Given the description of an element on the screen output the (x, y) to click on. 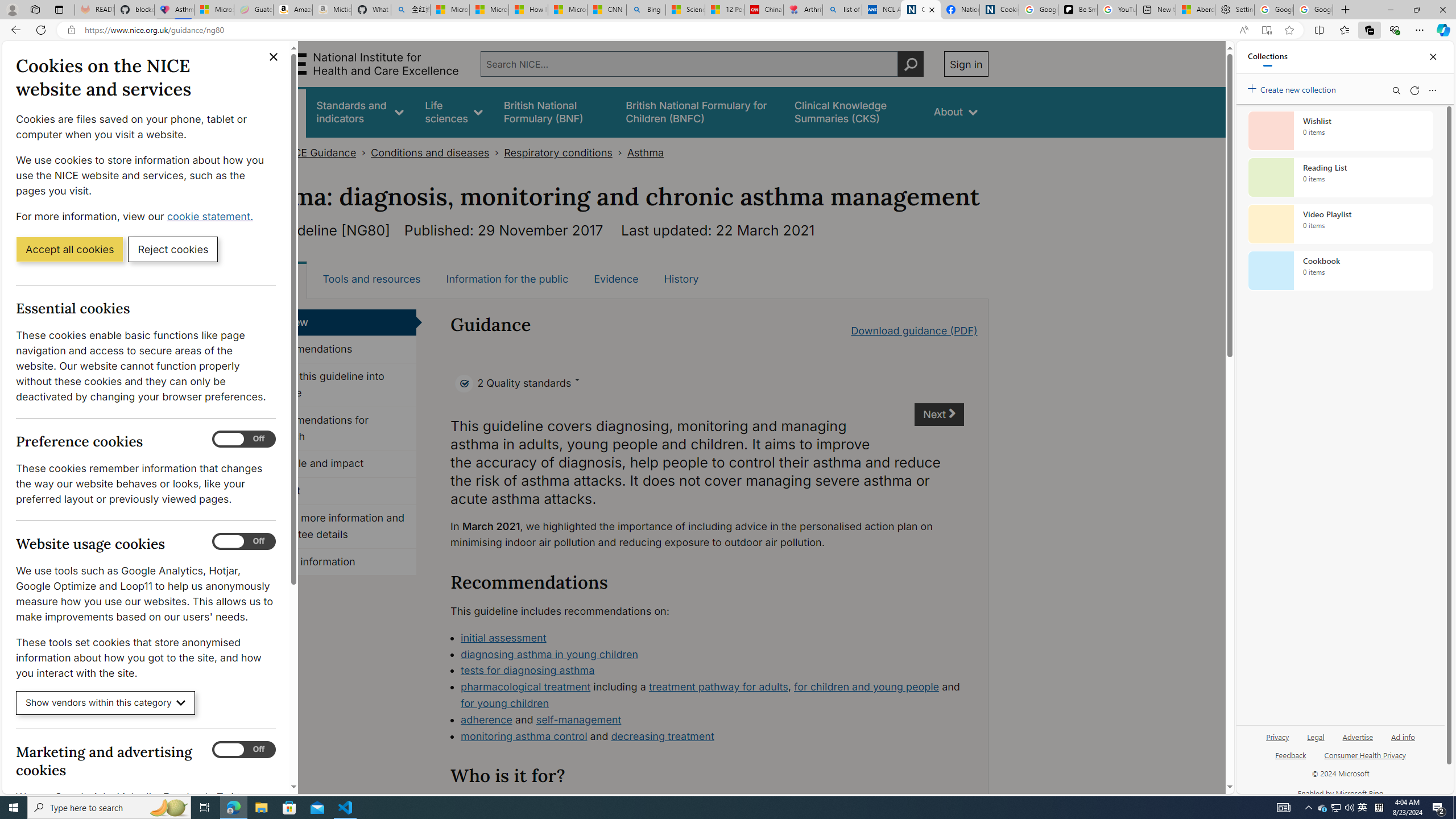
Context (333, 491)
adherence (486, 719)
NICE Guidance (319, 152)
Update information (333, 561)
Overview (333, 321)
Recommendations (333, 349)
Tools and resources (370, 279)
